Given the description of an element on the screen output the (x, y) to click on. 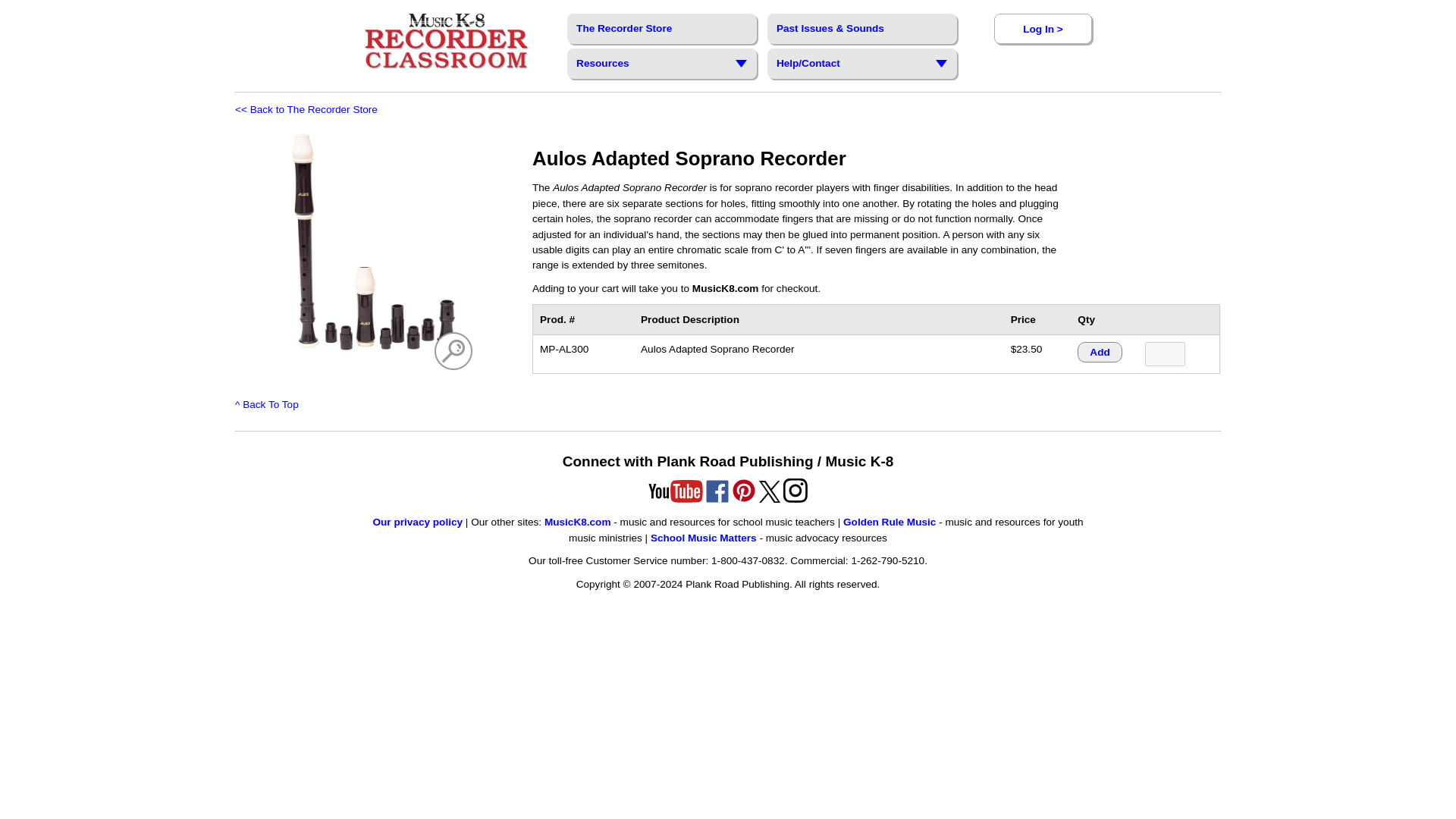
Instagram (795, 499)
MusicK8.com (577, 521)
Resources (658, 63)
Plank Road Publishing's MusicK8.com (446, 40)
Add (1099, 352)
Facebook (717, 490)
The Recorder Store (662, 28)
Pinterest (743, 490)
Facebook (717, 499)
Pinterest (743, 499)
Instagram (795, 490)
YouTube (675, 499)
Golden Rule Music (889, 521)
Add (1099, 352)
YouTube (675, 490)
